Given the description of an element on the screen output the (x, y) to click on. 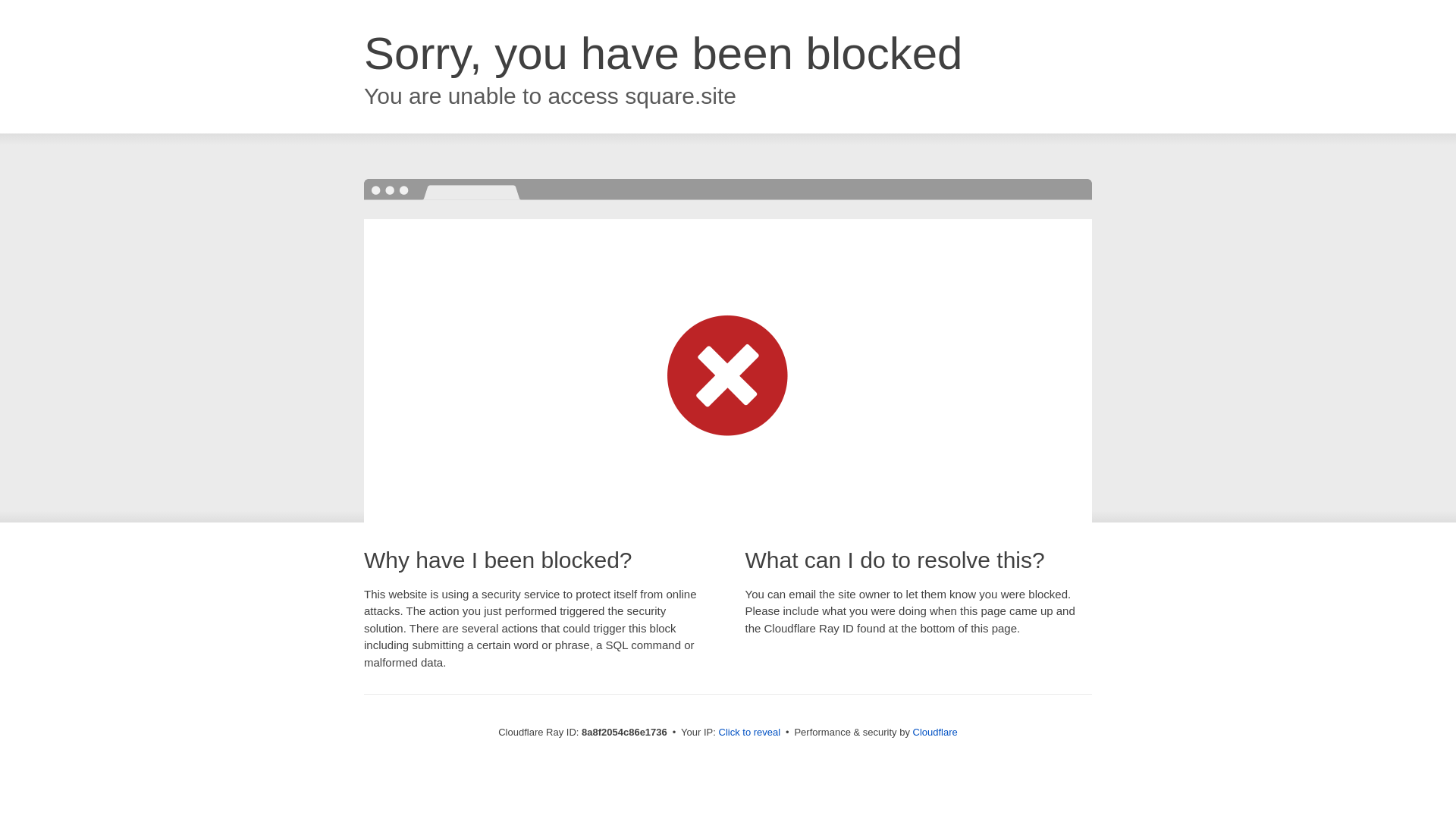
Click to reveal (749, 732)
Cloudflare (935, 731)
